Given the description of an element on the screen output the (x, y) to click on. 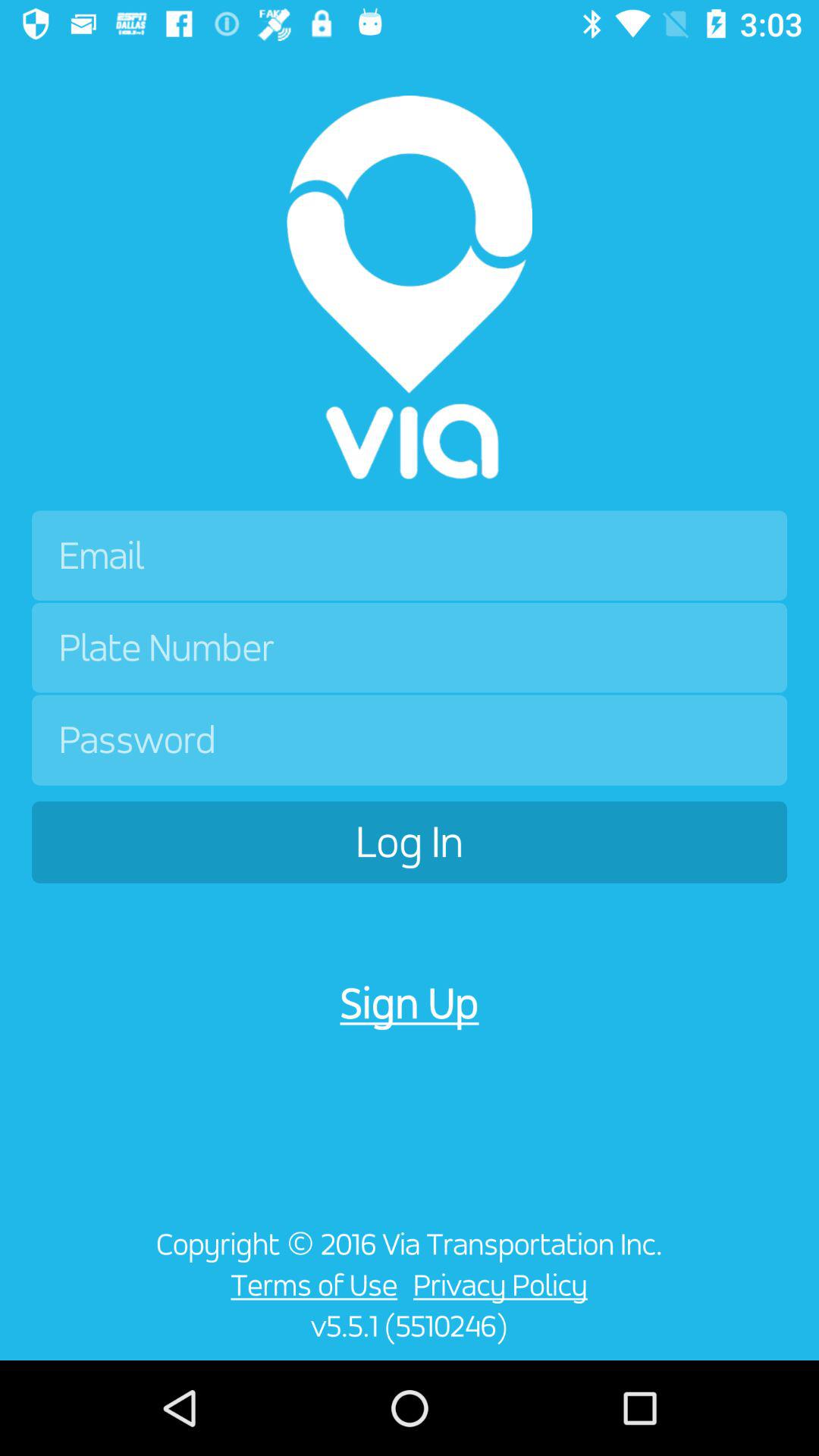
swipe to the log in icon (409, 842)
